Given the description of an element on the screen output the (x, y) to click on. 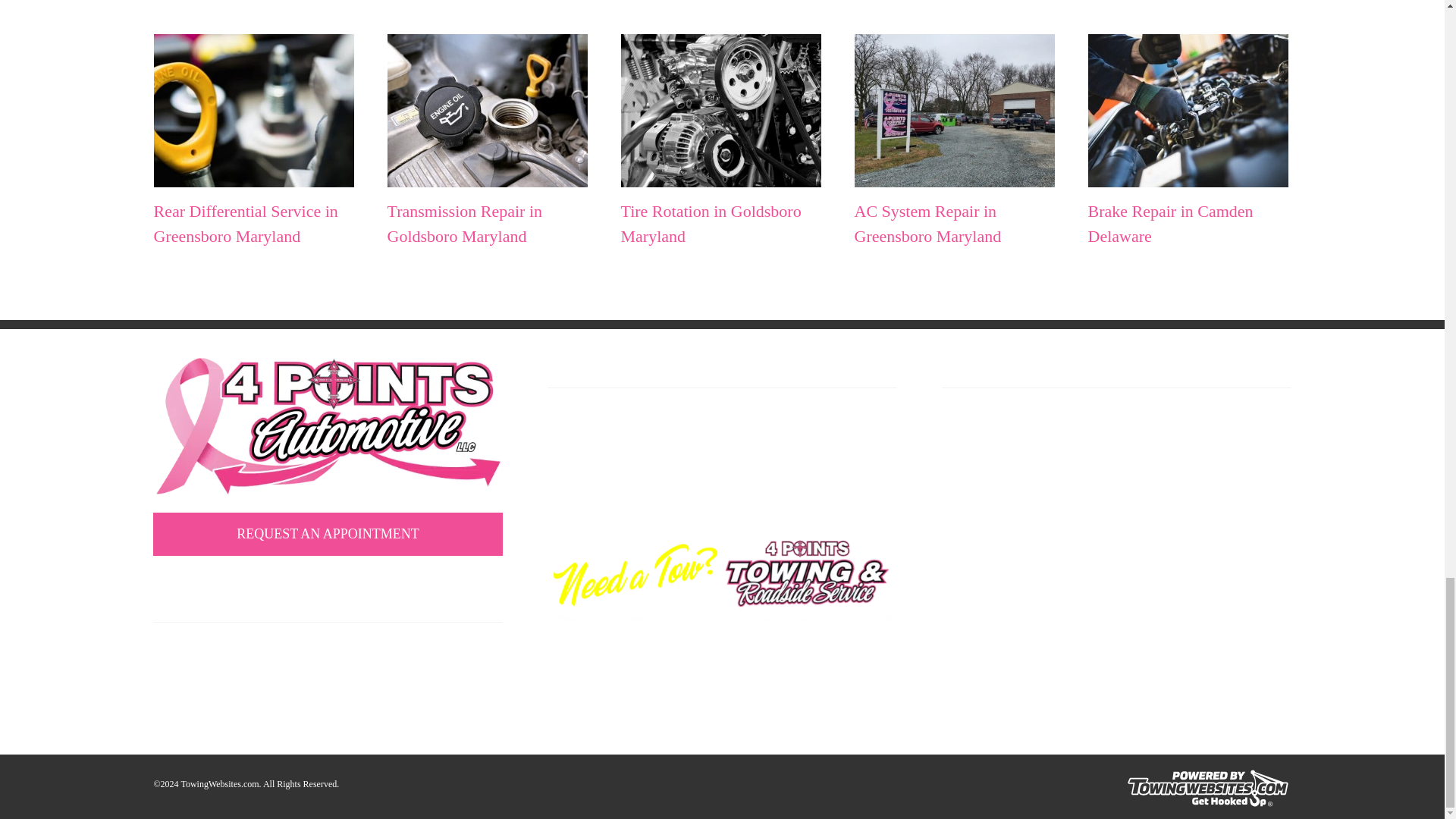
Rear Differential Service in Greensboro Maryland (244, 223)
Brake Repair in Camden Delaware (1169, 223)
Transmission Repair in Goldsboro Maryland (464, 223)
AC System Repair in Greensboro Maryland (927, 223)
Tire Rotation in Goldsboro Maryland (710, 223)
